Given the description of an element on the screen output the (x, y) to click on. 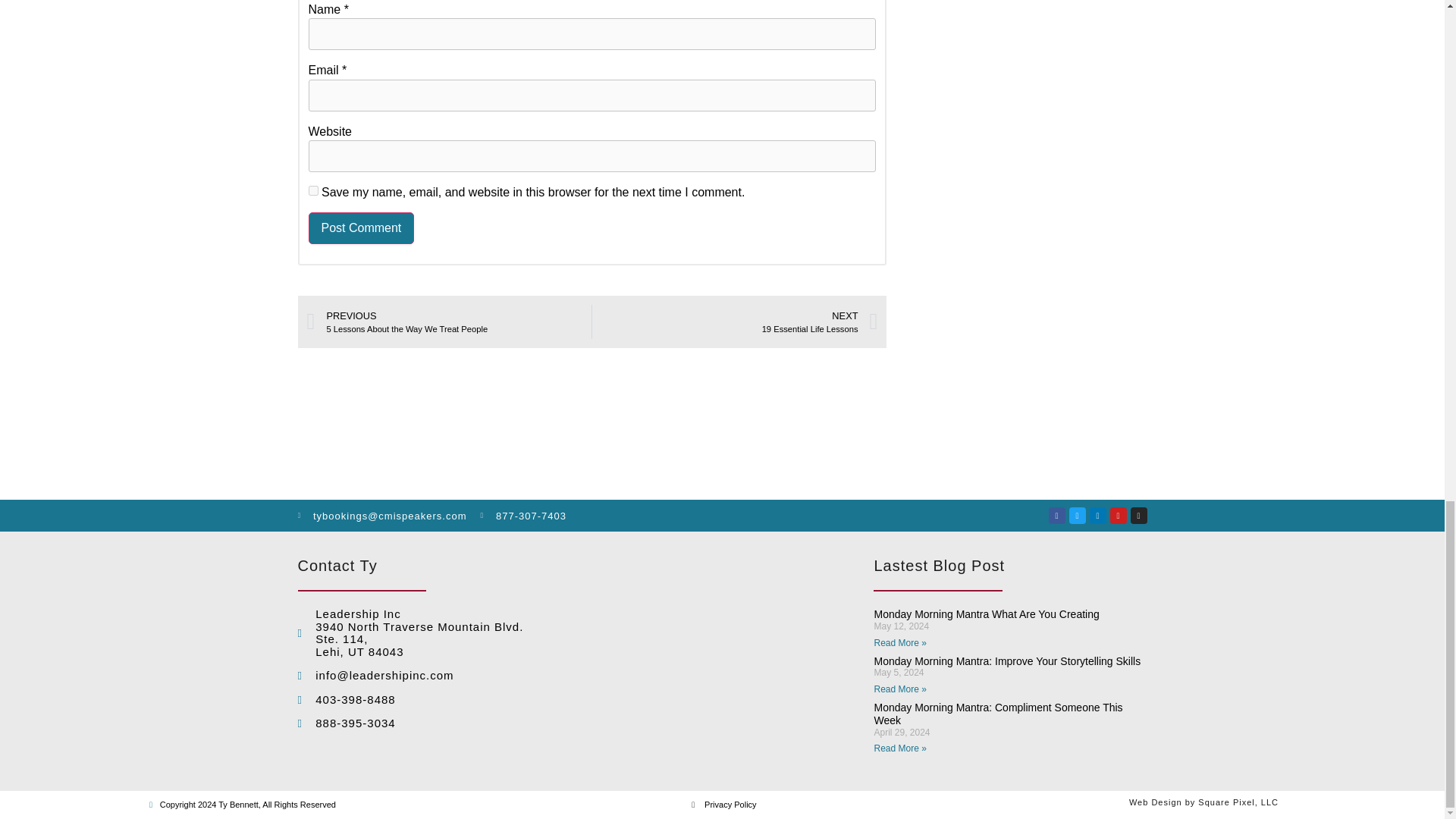
yes (312, 190)
Post Comment (360, 228)
